Given the description of an element on the screen output the (x, y) to click on. 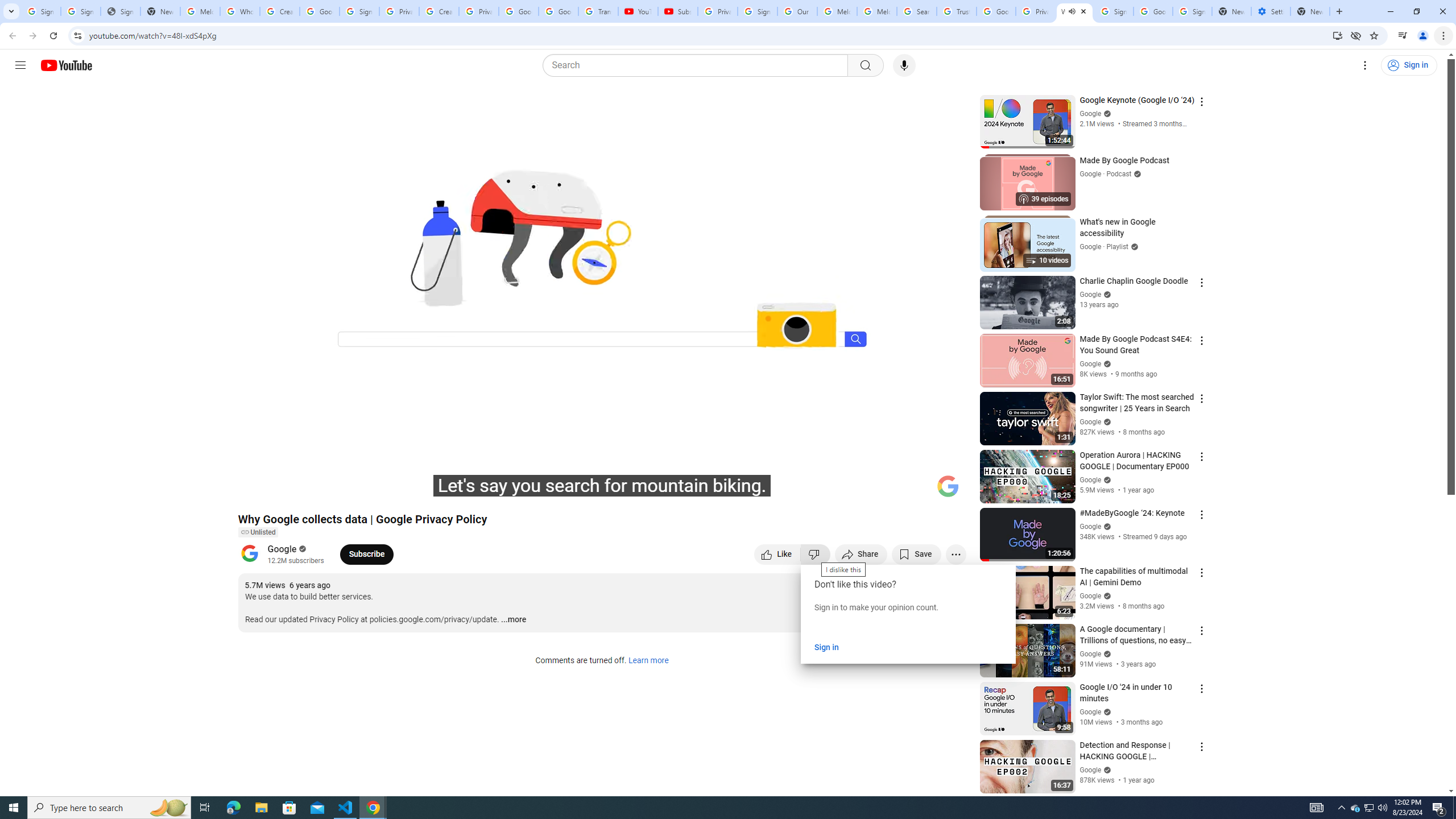
Google Cybersecurity Innovations - Google Safety Center (1152, 11)
Channel watermark (947, 486)
Sign in - Google Accounts (1113, 11)
Channel watermark (947, 486)
Full screen (f) (945, 490)
